Given the description of an element on the screen output the (x, y) to click on. 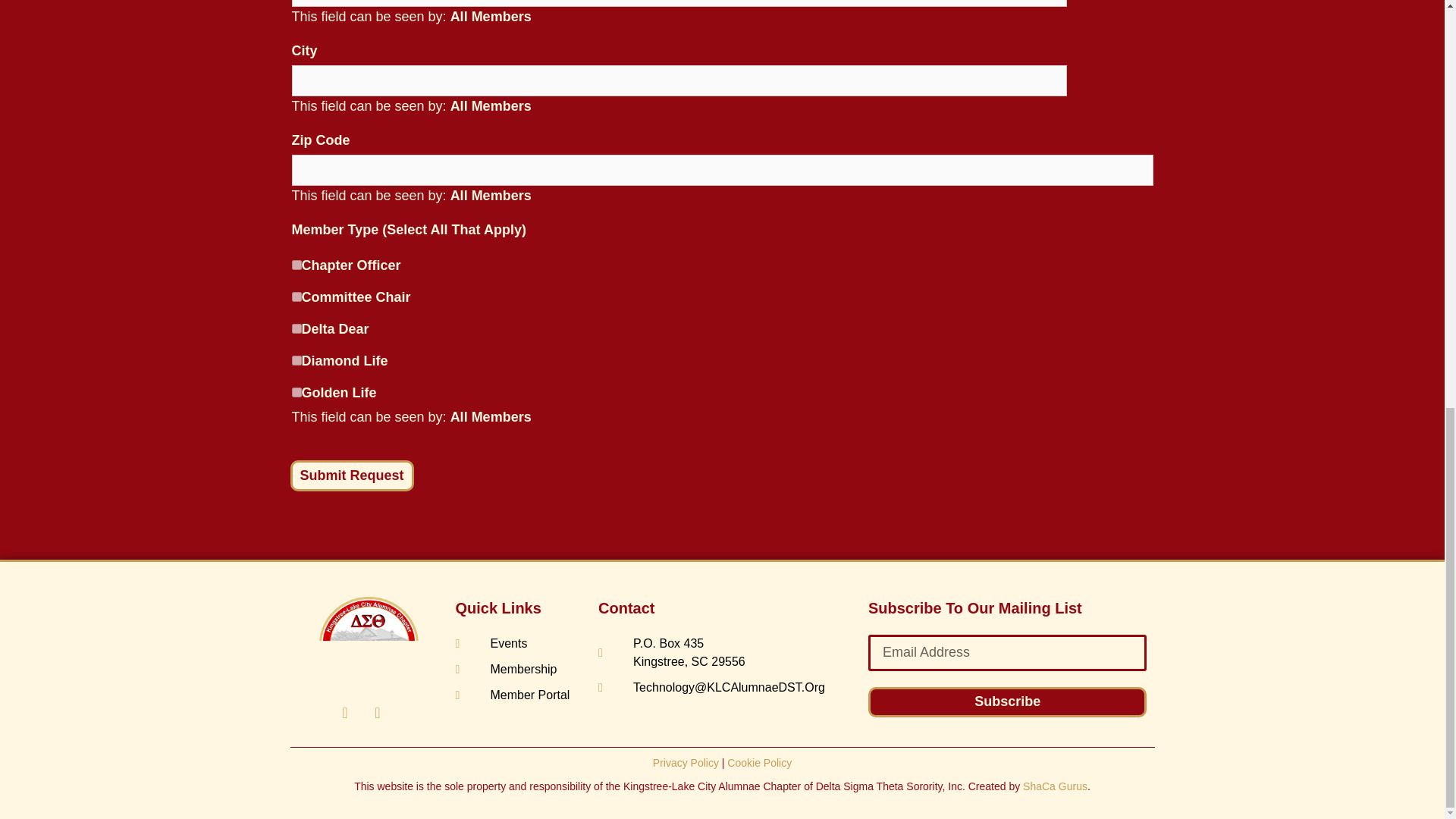
Privacy Policy (685, 762)
Membership (518, 669)
Diamond Life (296, 360)
Subscribe (1007, 702)
Golden Life (296, 392)
ShaCa Gurus (1055, 786)
Committee Chair (296, 296)
Delta Dear (296, 328)
Cookie Policy (759, 762)
Submit Request (351, 475)
